Given the description of an element on the screen output the (x, y) to click on. 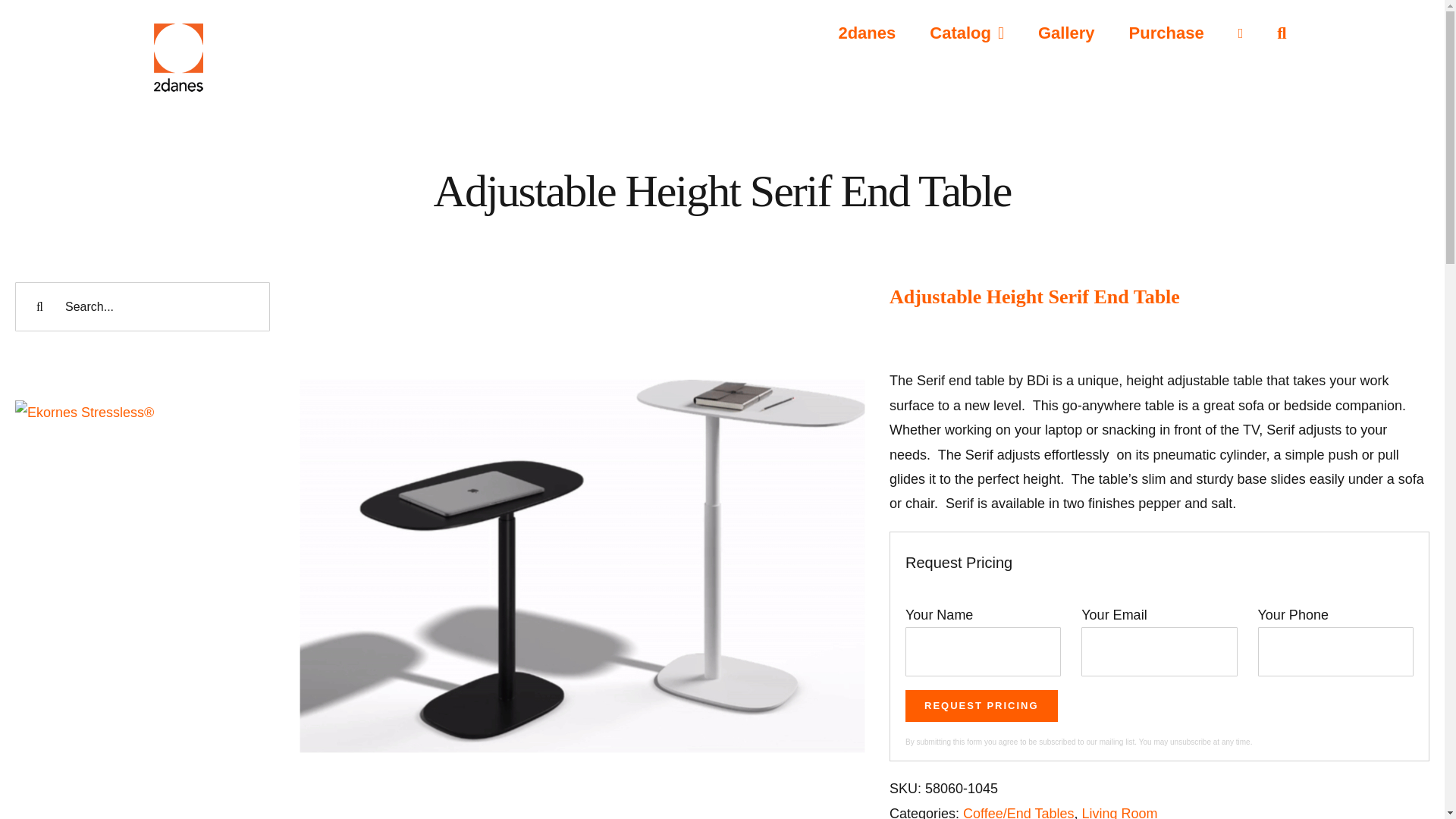
Catalog (967, 31)
Request Pricing (981, 705)
2danes (866, 31)
